Given the description of an element on the screen output the (x, y) to click on. 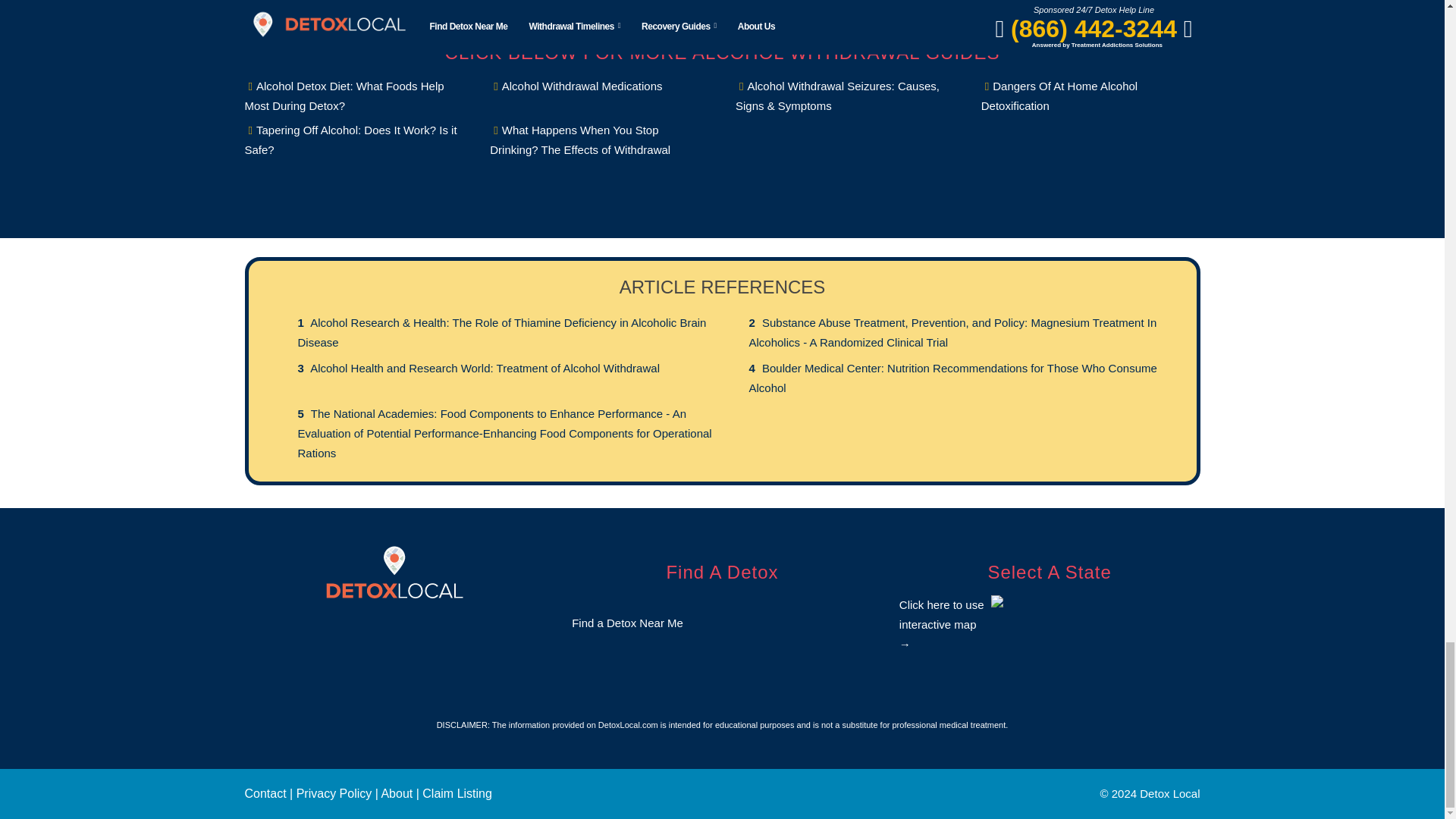
Contact Detox Local (264, 793)
Detox Local (394, 569)
Detox Centers by State (1049, 618)
Detox Local (394, 572)
